Given the description of an element on the screen output the (x, y) to click on. 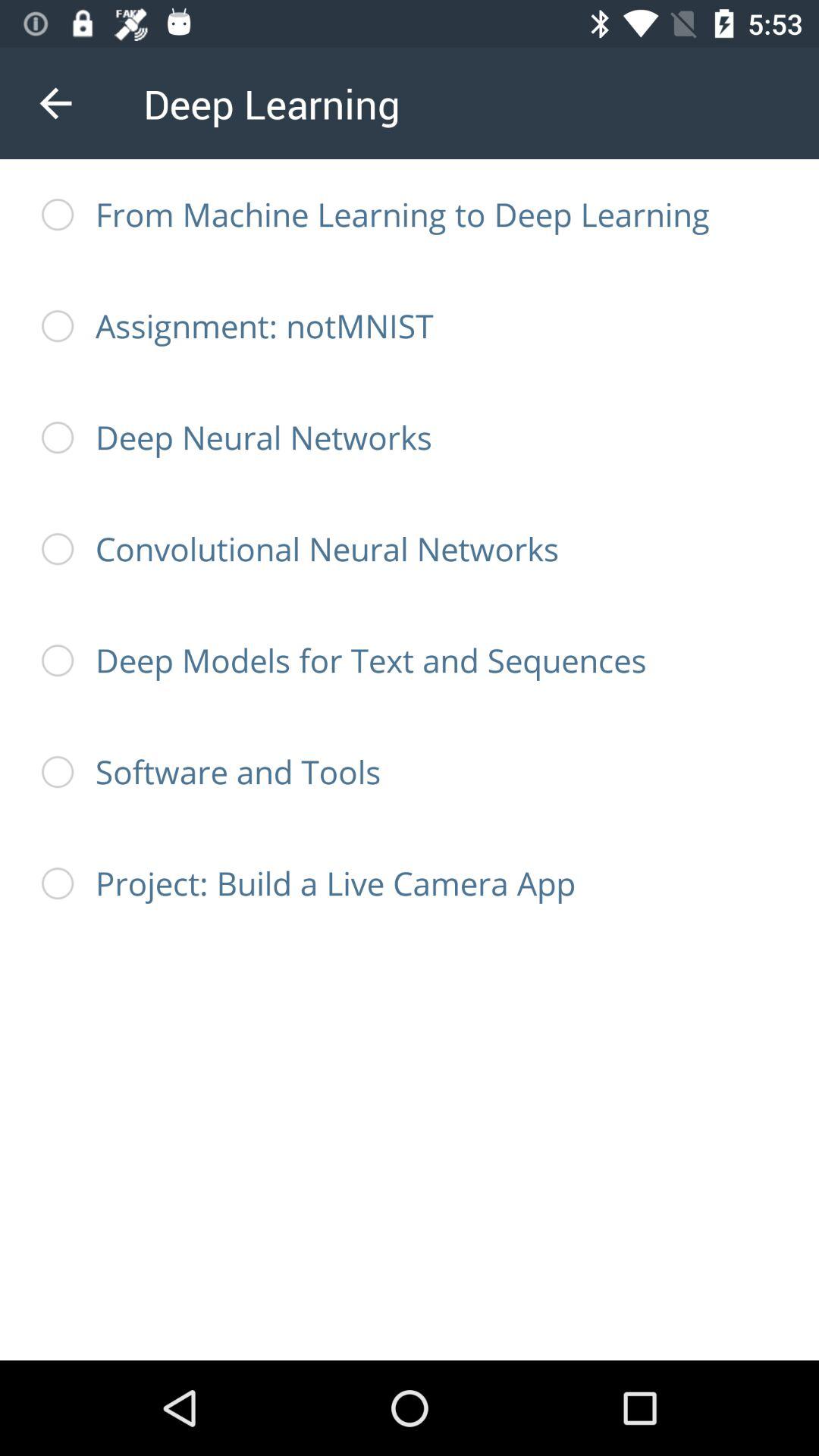
turn off the icon above the from machine learning item (55, 103)
